Given the description of an element on the screen output the (x, y) to click on. 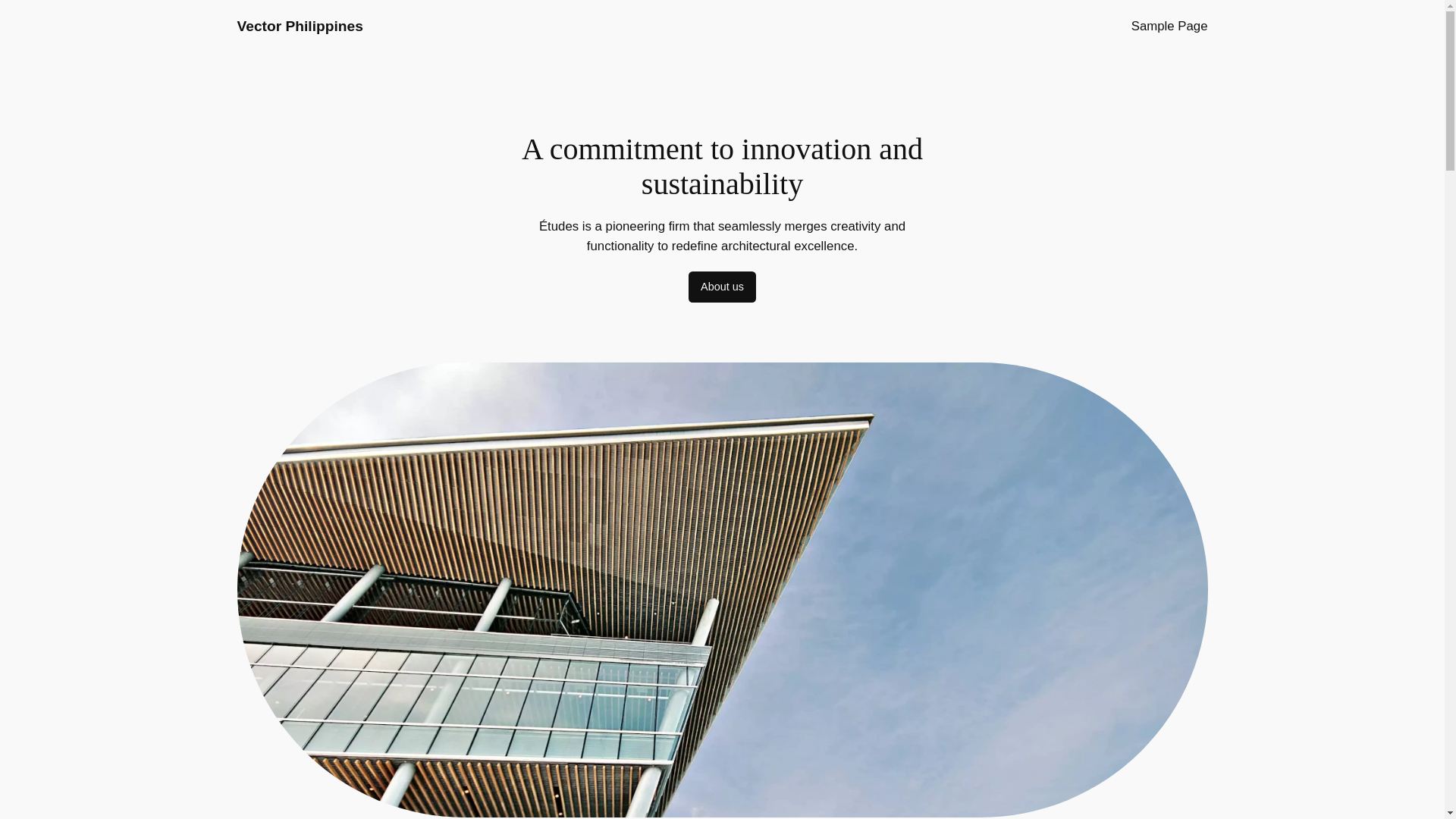
Sample Page (1169, 26)
Vector Philippines (298, 26)
About us (721, 287)
